Given the description of an element on the screen output the (x, y) to click on. 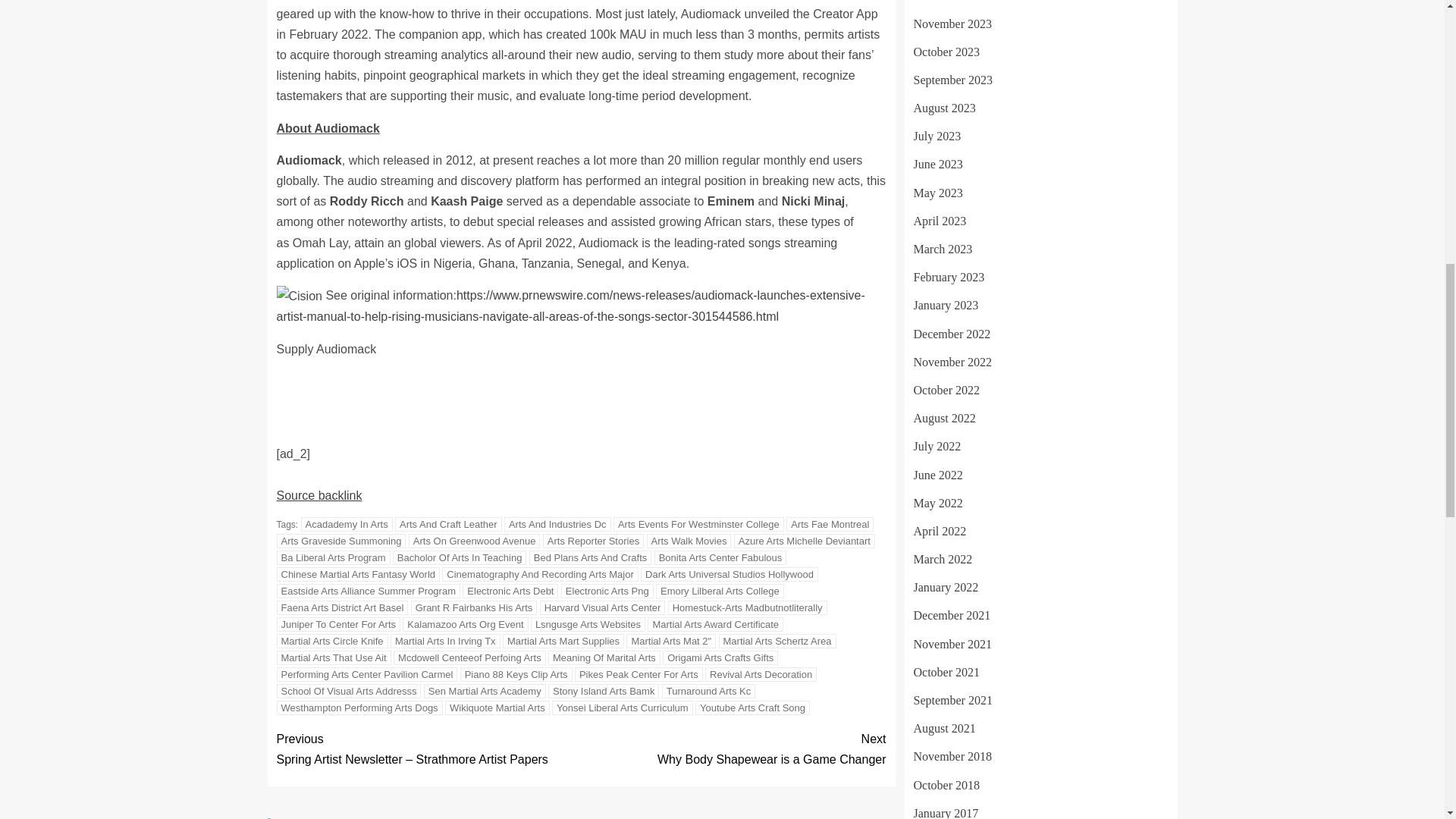
Bacholor Of Arts In Teaching (460, 557)
Ba Liberal Arts Program (333, 557)
Arts Reporter Stories (593, 540)
Bonita Arts Center Fabulous (720, 557)
Acadademy In Arts (347, 523)
Source backlink (318, 495)
Bed Plans Arts And Crafts (590, 557)
Arts Fae Montreal (829, 523)
Arts And Craft Leather (448, 523)
Cision (298, 295)
